Given the description of an element on the screen output the (x, y) to click on. 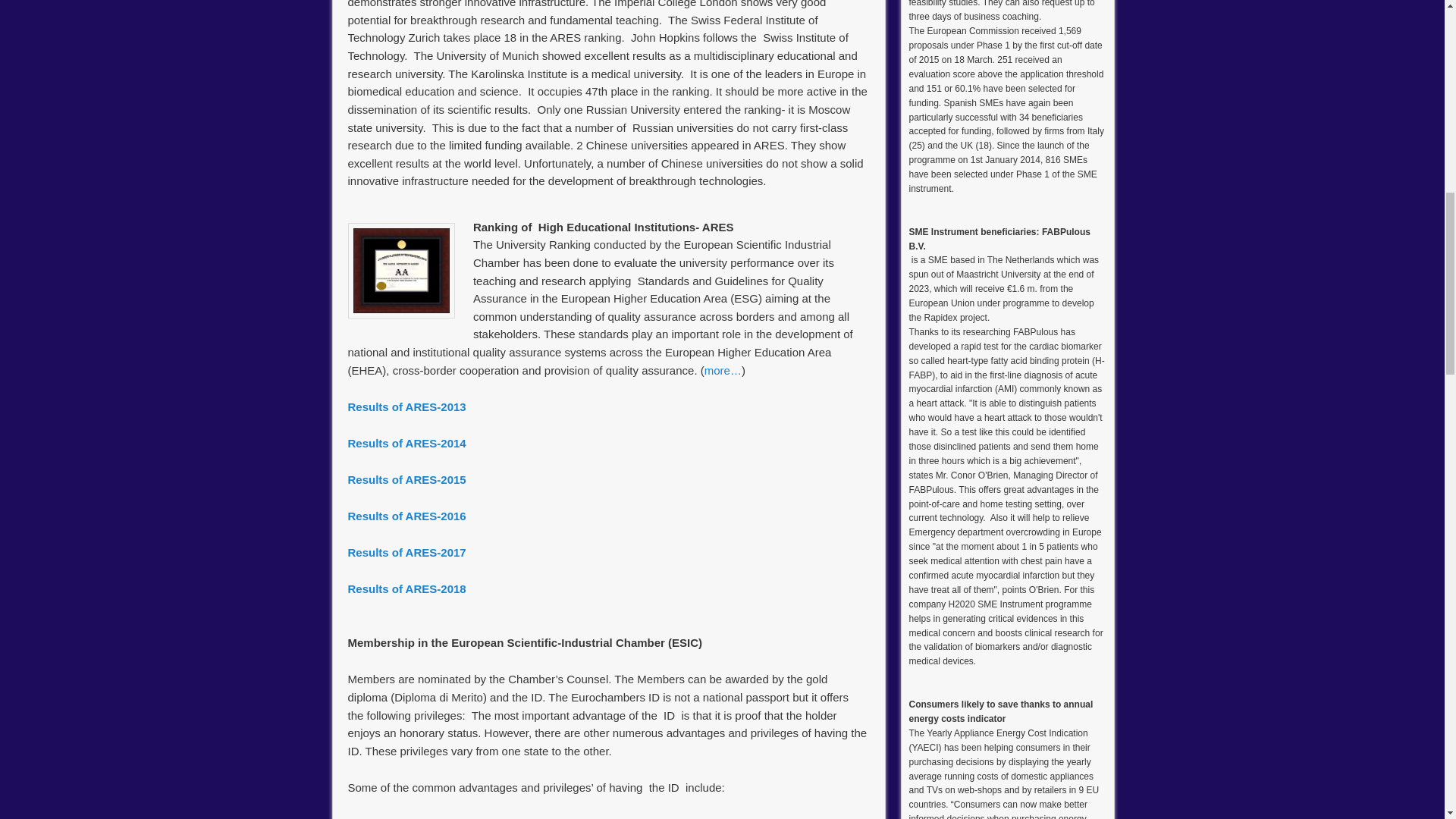
Results of ARES-2018 (406, 588)
Results of ARES-2014  (407, 442)
Results of ARES-2017 (406, 552)
Results of ARES-2016  (407, 515)
Results of ARES-2015  (407, 479)
Results of ARES-2013  (407, 406)
